Given the description of an element on the screen output the (x, y) to click on. 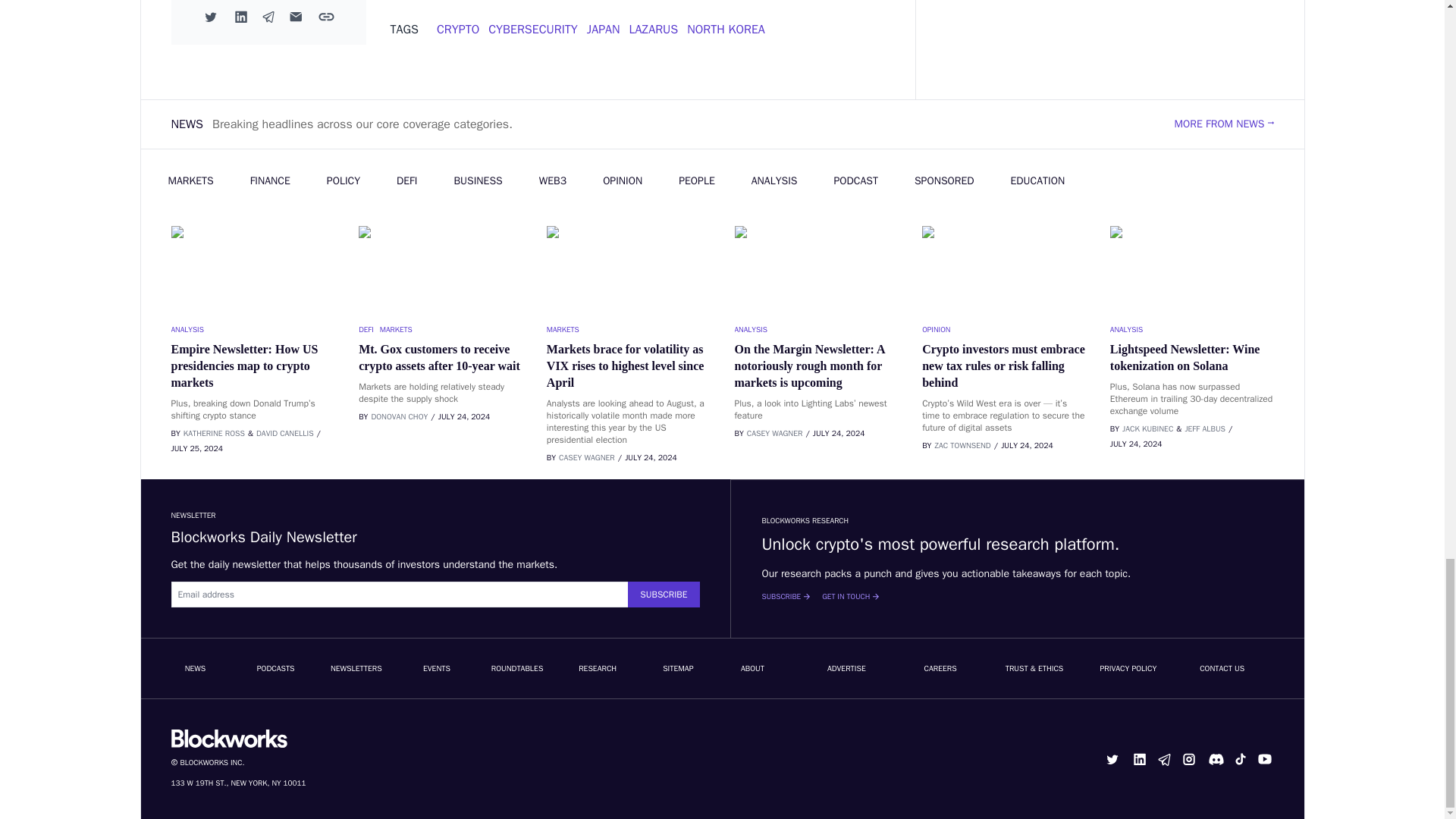
LAZARUS (440, 328)
ANALYSIS (653, 29)
ANALYSIS (815, 328)
CRYPTO (1191, 328)
JAPAN (457, 29)
ANALYSIS (603, 29)
CYBERSECURITY (252, 328)
NORTH KOREA (532, 29)
OPINION (726, 29)
MARKETS (1003, 328)
